Given the description of an element on the screen output the (x, y) to click on. 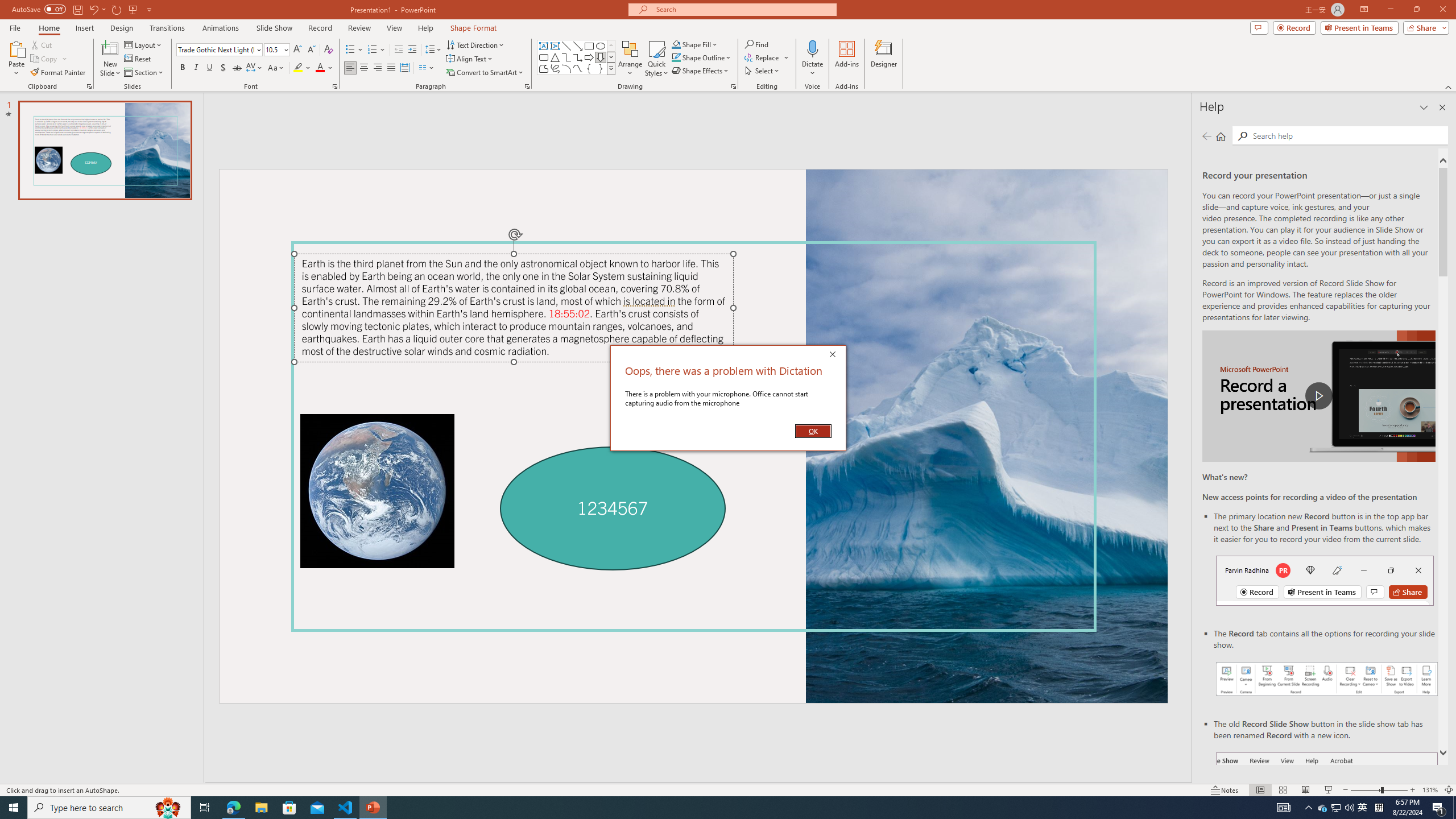
Convert to SmartArt (485, 72)
From Beginning (133, 9)
Strikethrough (237, 67)
Vertical Text Box (554, 45)
Start (13, 807)
Font Size (276, 49)
Font Size (273, 49)
Office Clipboard... (88, 85)
Clear Formatting (327, 49)
Zoom Out (1365, 790)
Open (285, 49)
